Given the description of an element on the screen output the (x, y) to click on. 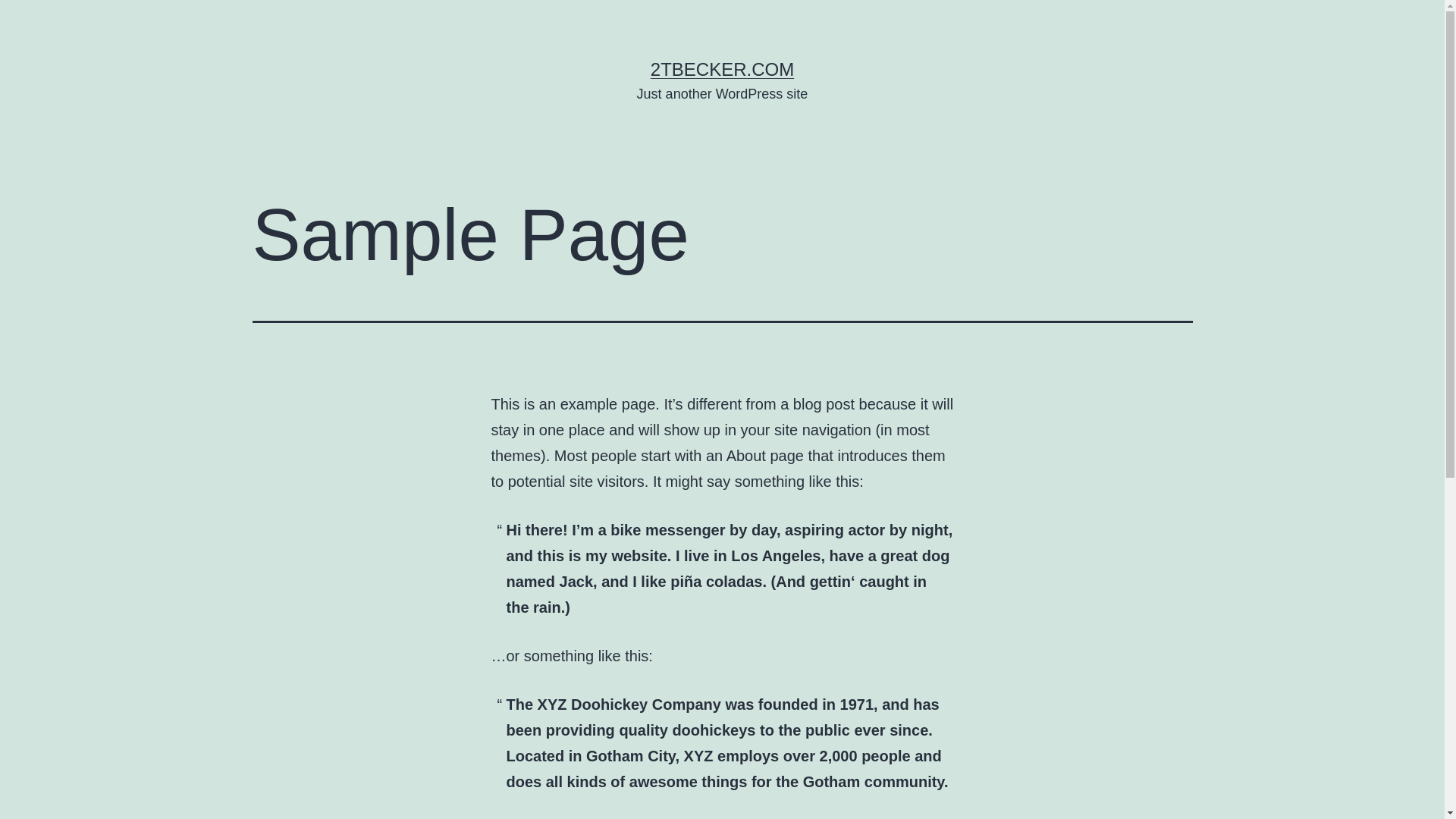
2TBECKER.COM Element type: text (721, 69)
